Given the description of an element on the screen output the (x, y) to click on. 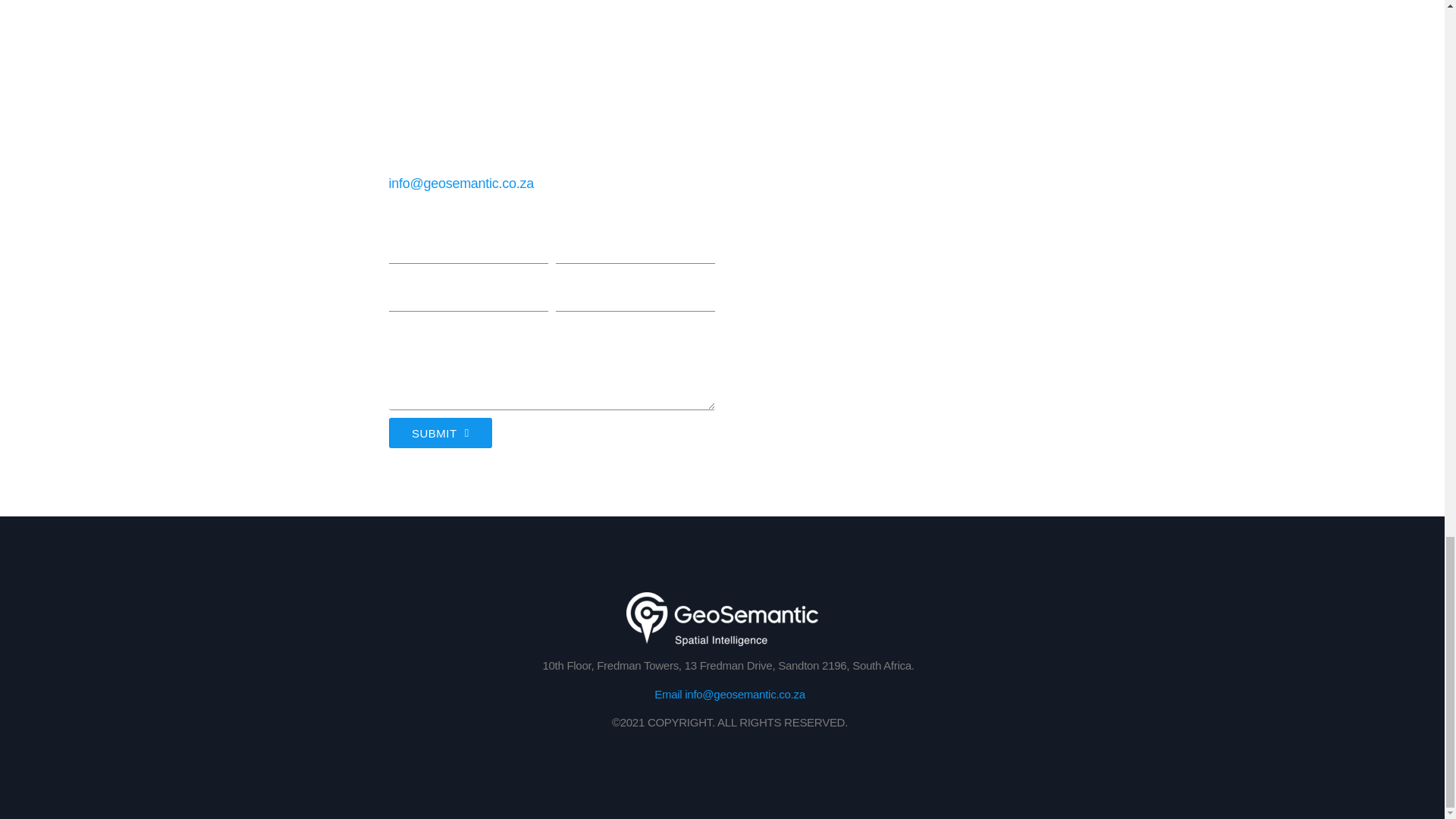
SUBMIT (440, 432)
